Given the description of an element on the screen output the (x, y) to click on. 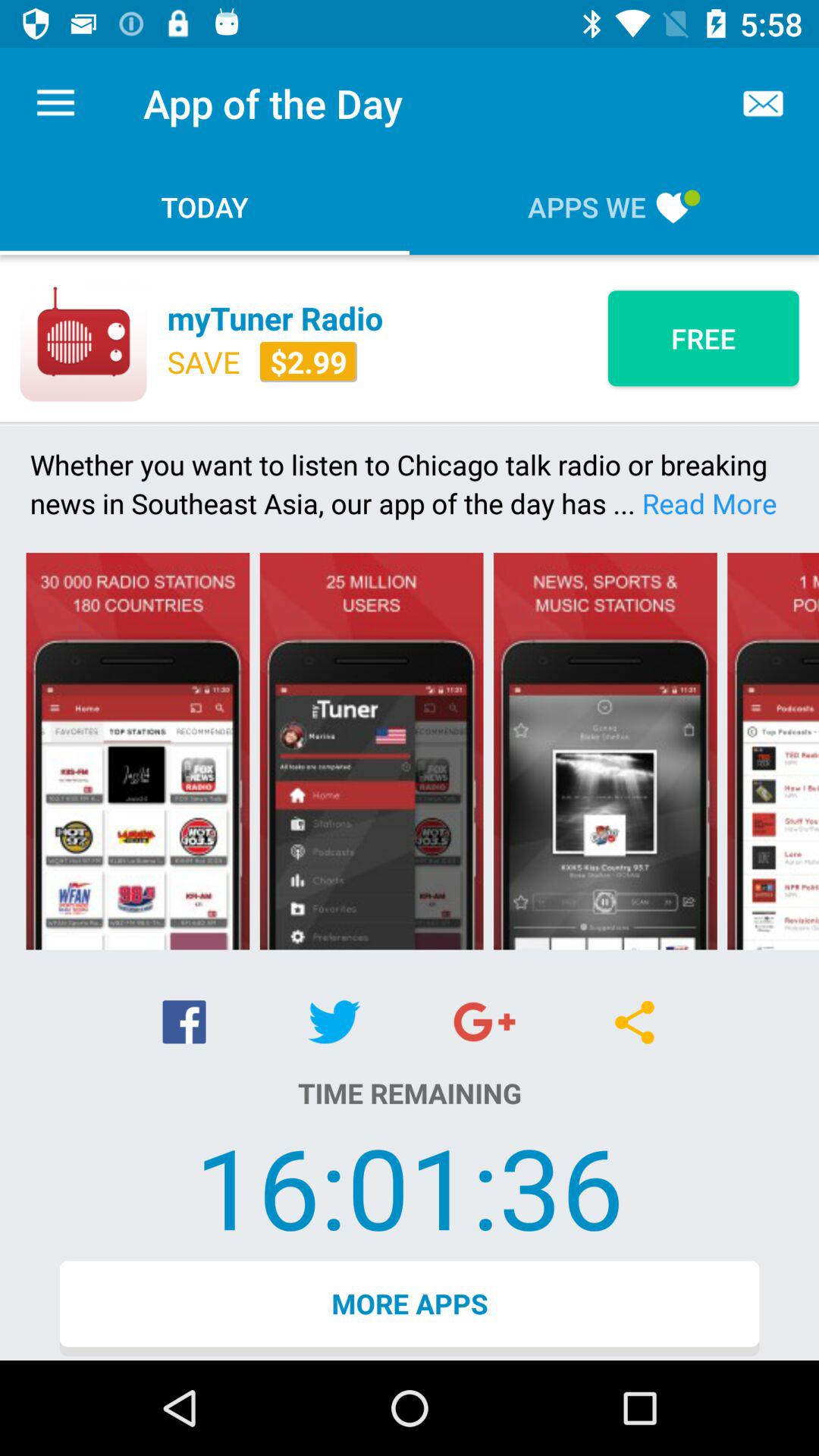
click the icon next to the app of the (55, 103)
